Given the description of an element on the screen output the (x, y) to click on. 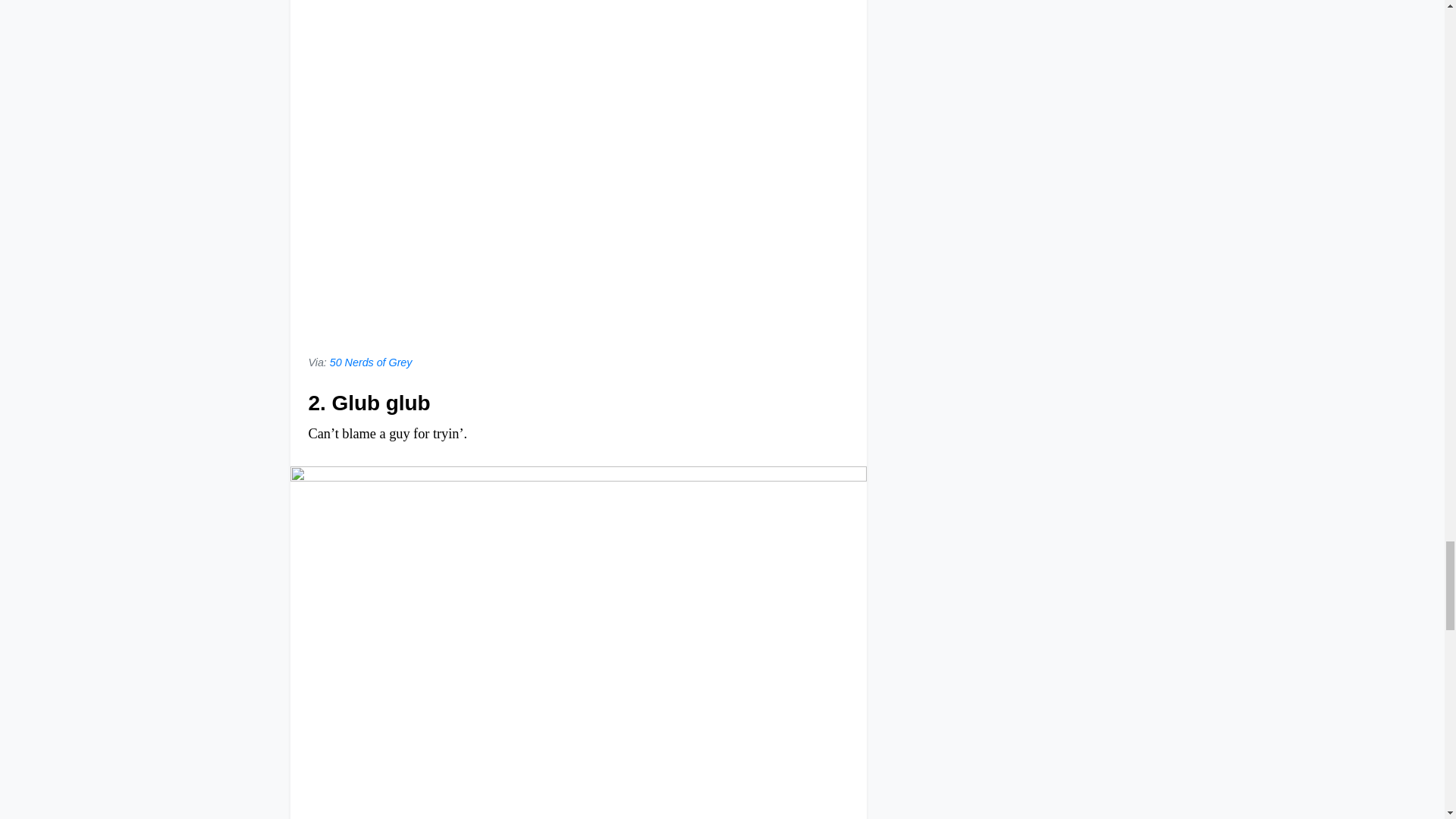
50 Nerds of Grey (371, 362)
